Given the description of an element on the screen output the (x, y) to click on. 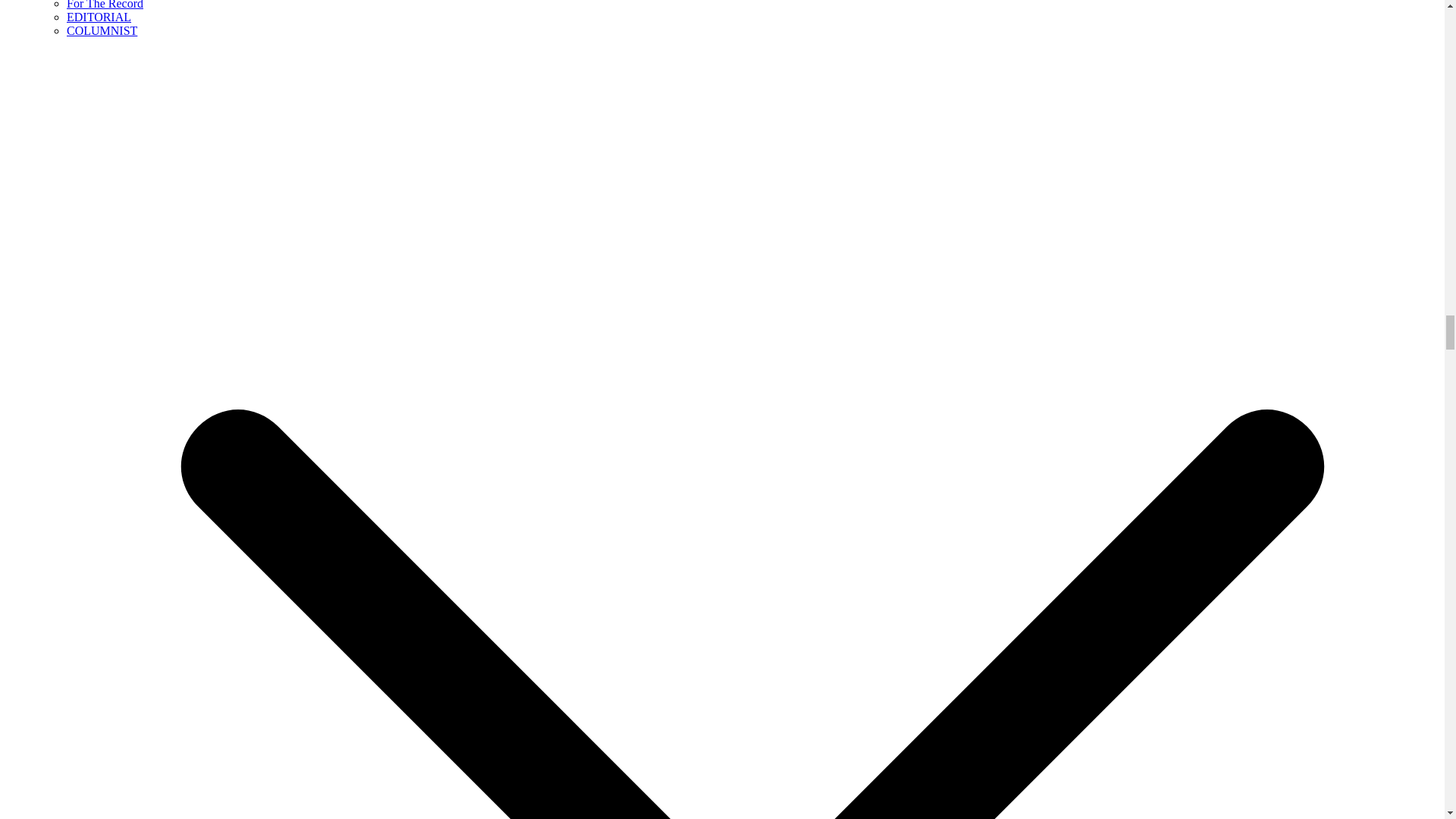
EDITORIAL (98, 16)
COLUMNIST (101, 30)
For The Record (104, 4)
